Given the description of an element on the screen output the (x, y) to click on. 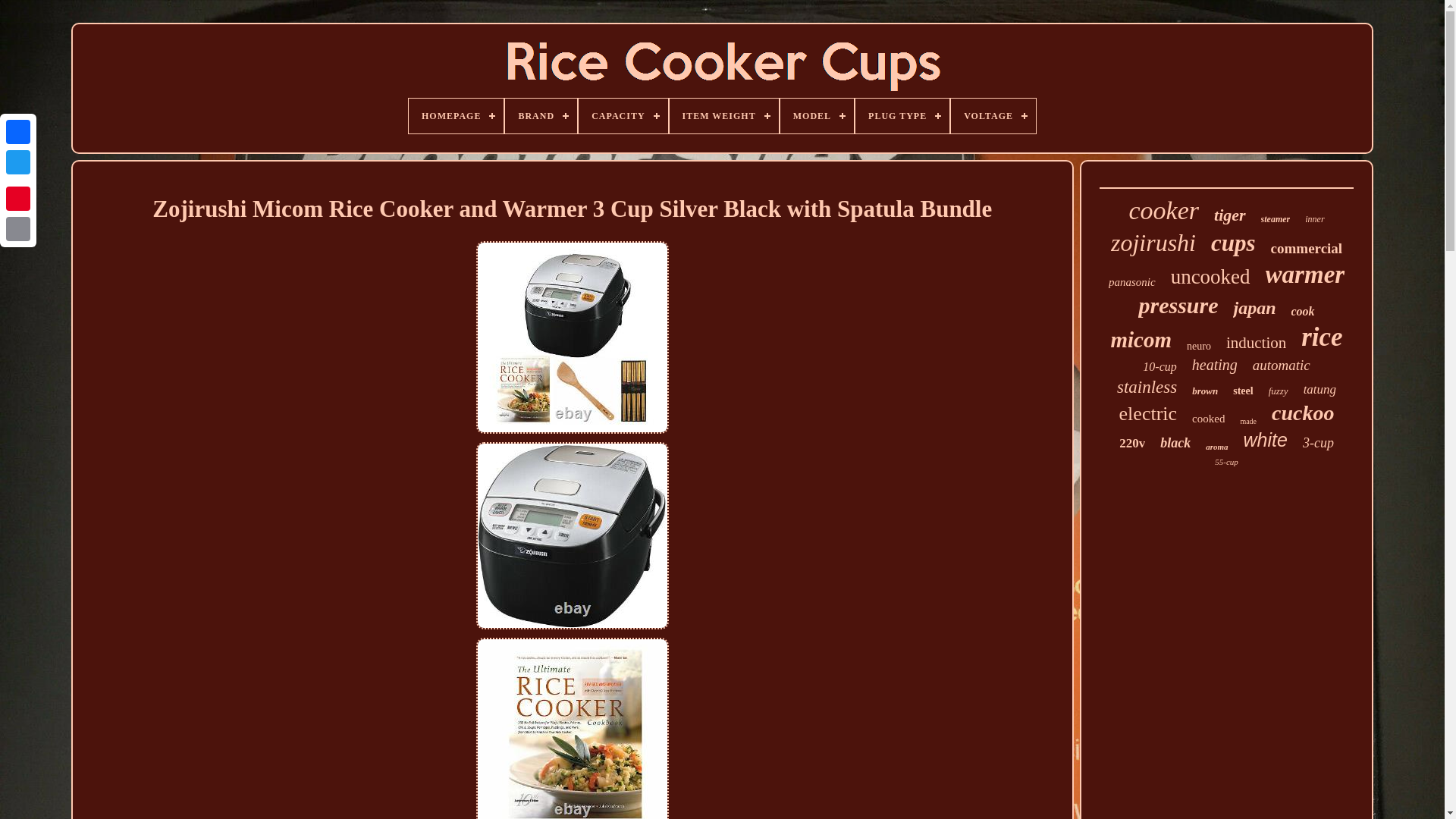
BRAND (540, 115)
CAPACITY (622, 115)
HOMEPAGE (456, 115)
